Given the description of an element on the screen output the (x, y) to click on. 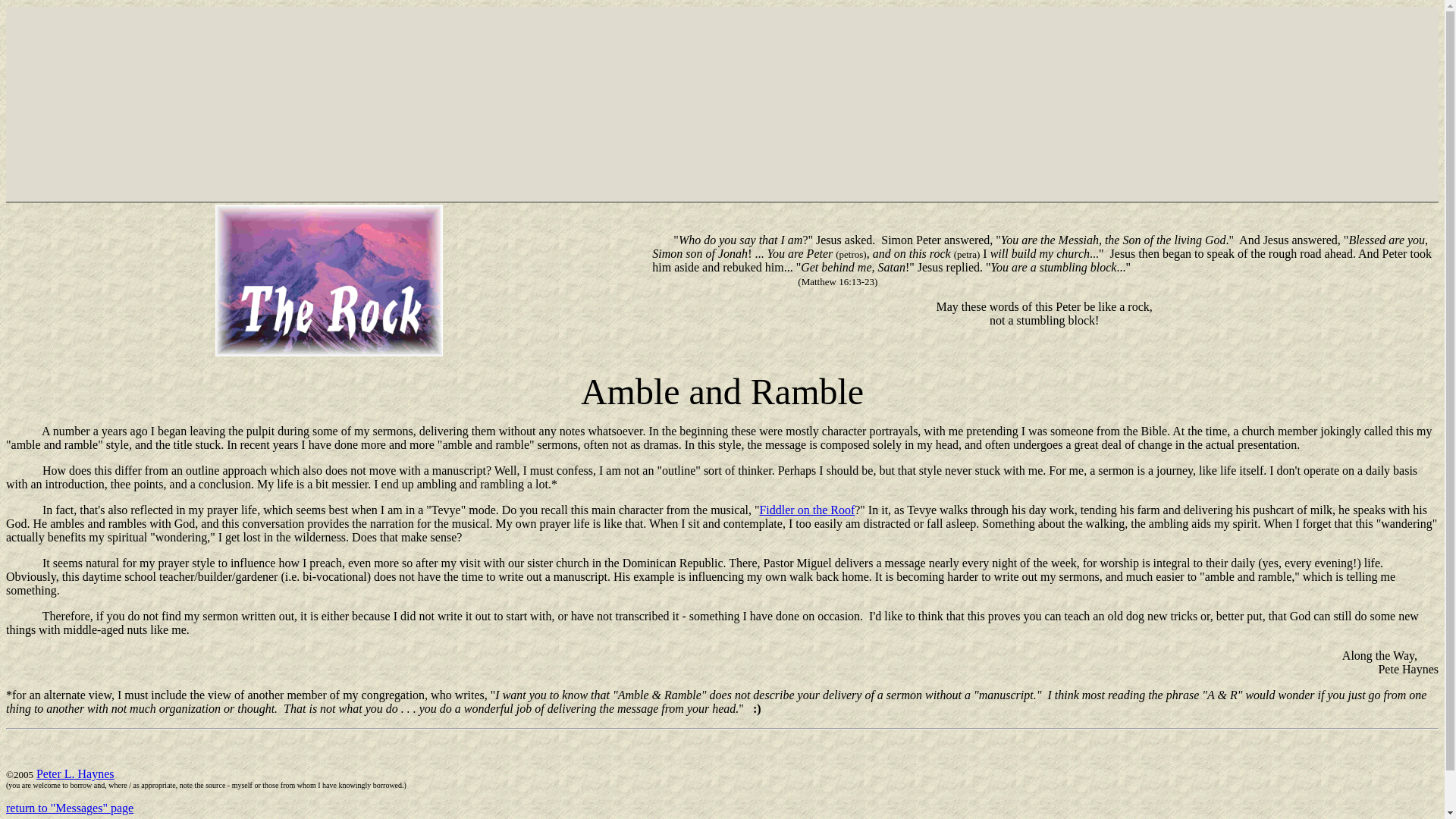
Peter L. Haynes (75, 773)
Fiddler on the Roof (806, 509)
return to "Messages" page (69, 807)
